Given the description of an element on the screen output the (x, y) to click on. 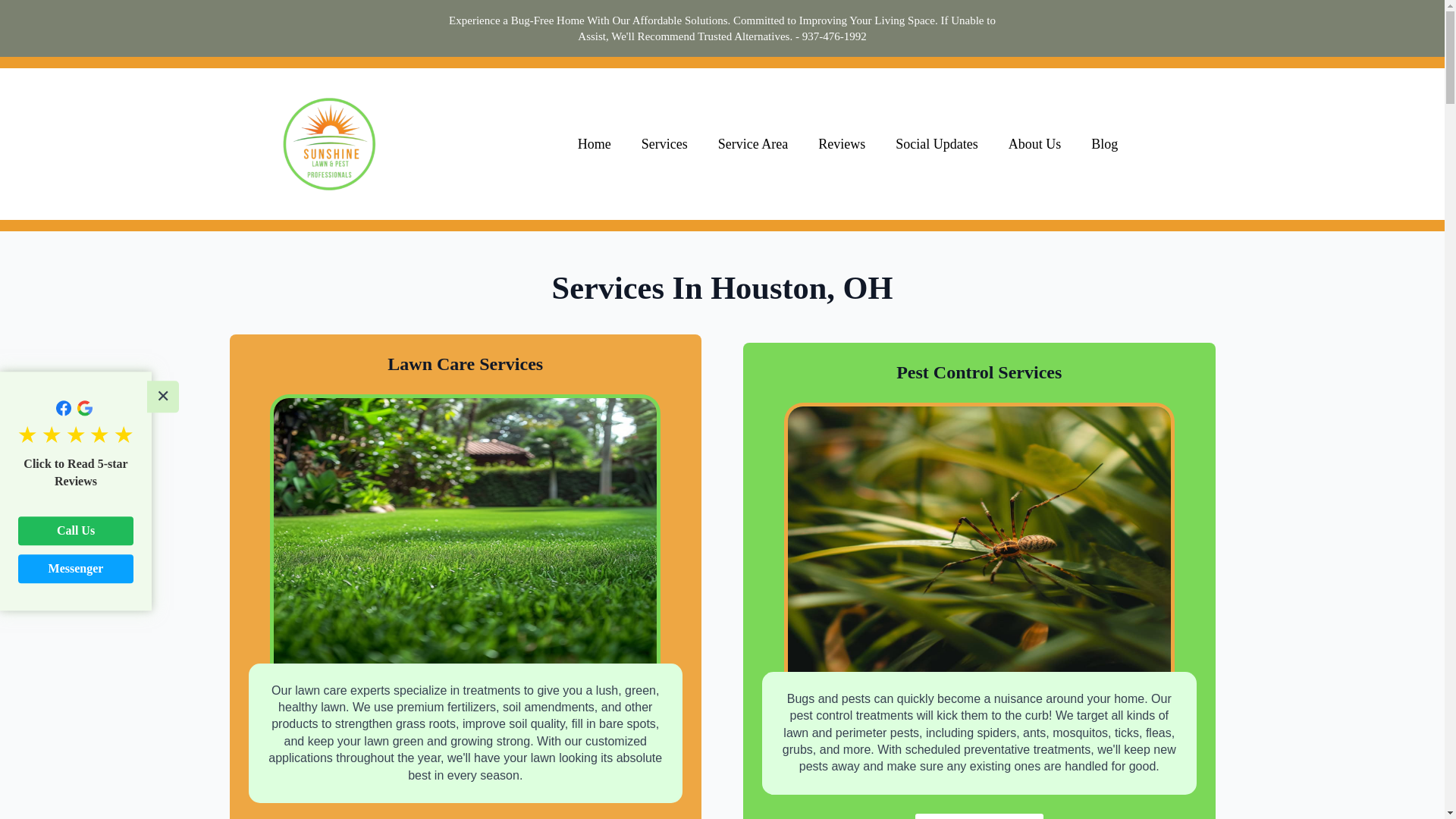
Call Us (75, 530)
Learn More (979, 816)
Home (594, 144)
Reviews (841, 144)
Services (664, 144)
About Us (1034, 144)
Social Updates (936, 144)
Blog (1103, 144)
937-476-1992 (834, 36)
Service Area (753, 144)
Messenger (75, 568)
